Given the description of an element on the screen output the (x, y) to click on. 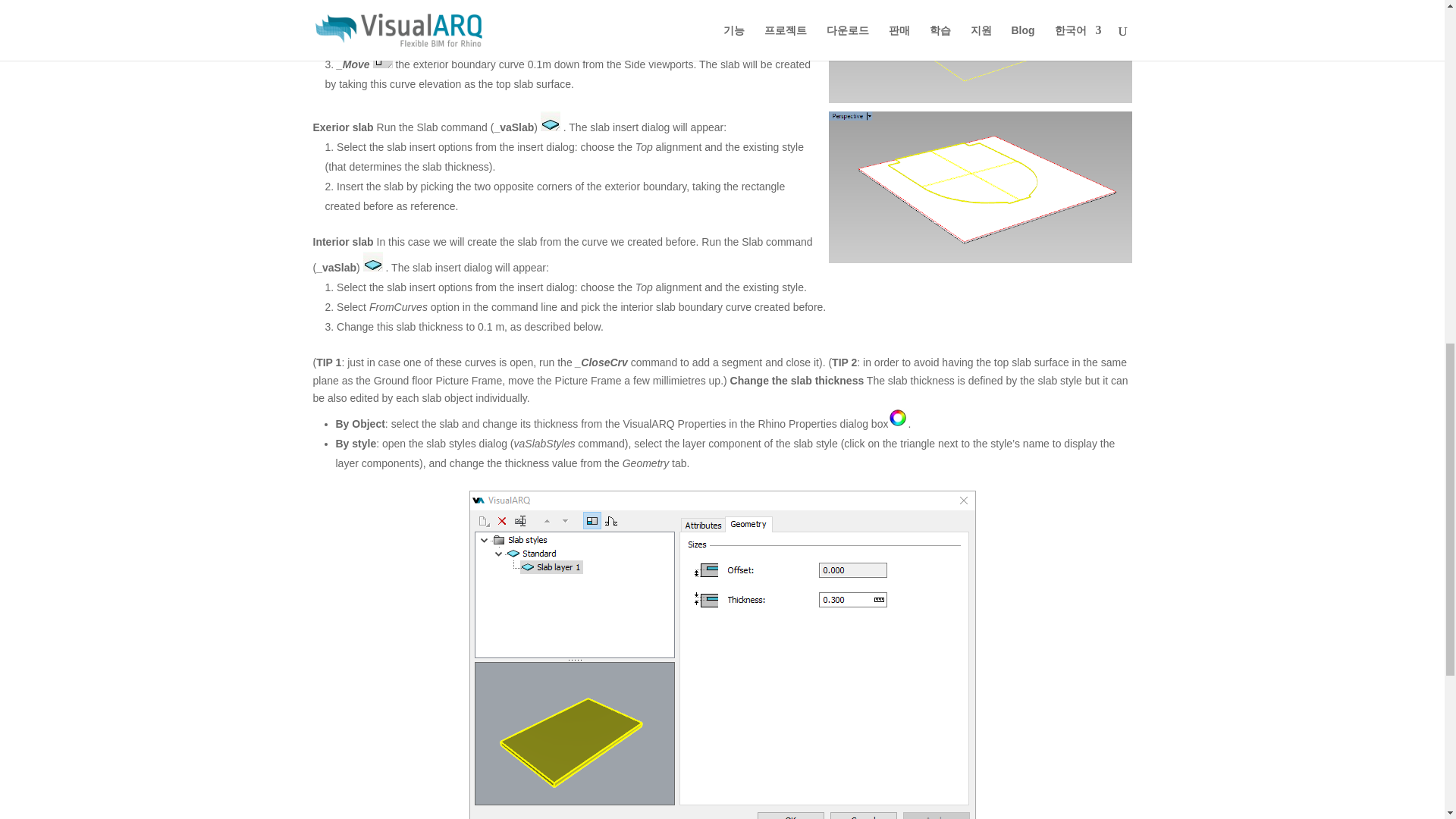
1.1.1 Slab curves (979, 51)
